Given the description of an element on the screen output the (x, y) to click on. 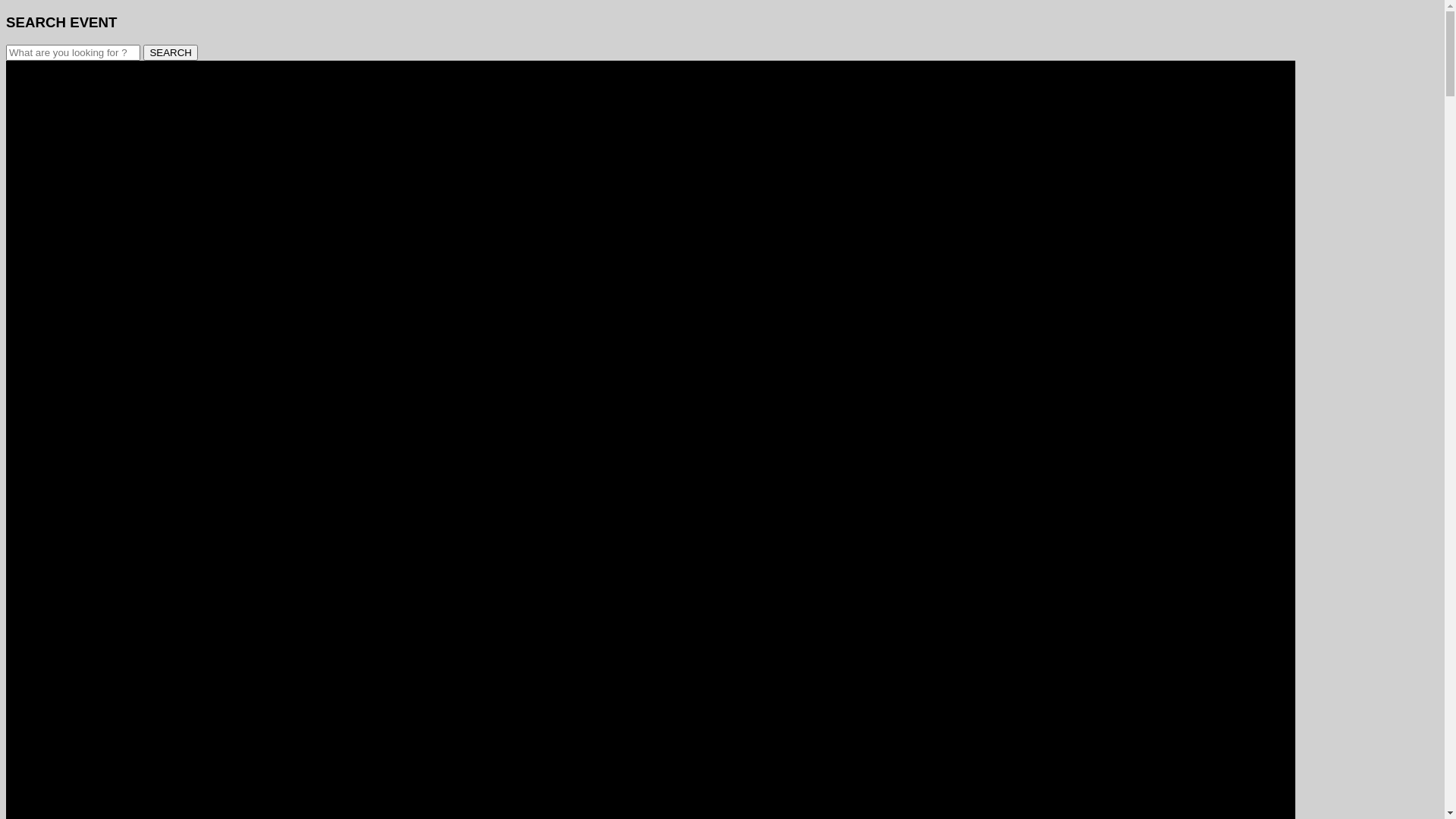
SEARCH Element type: text (170, 52)
